Given the description of an element on the screen output the (x, y) to click on. 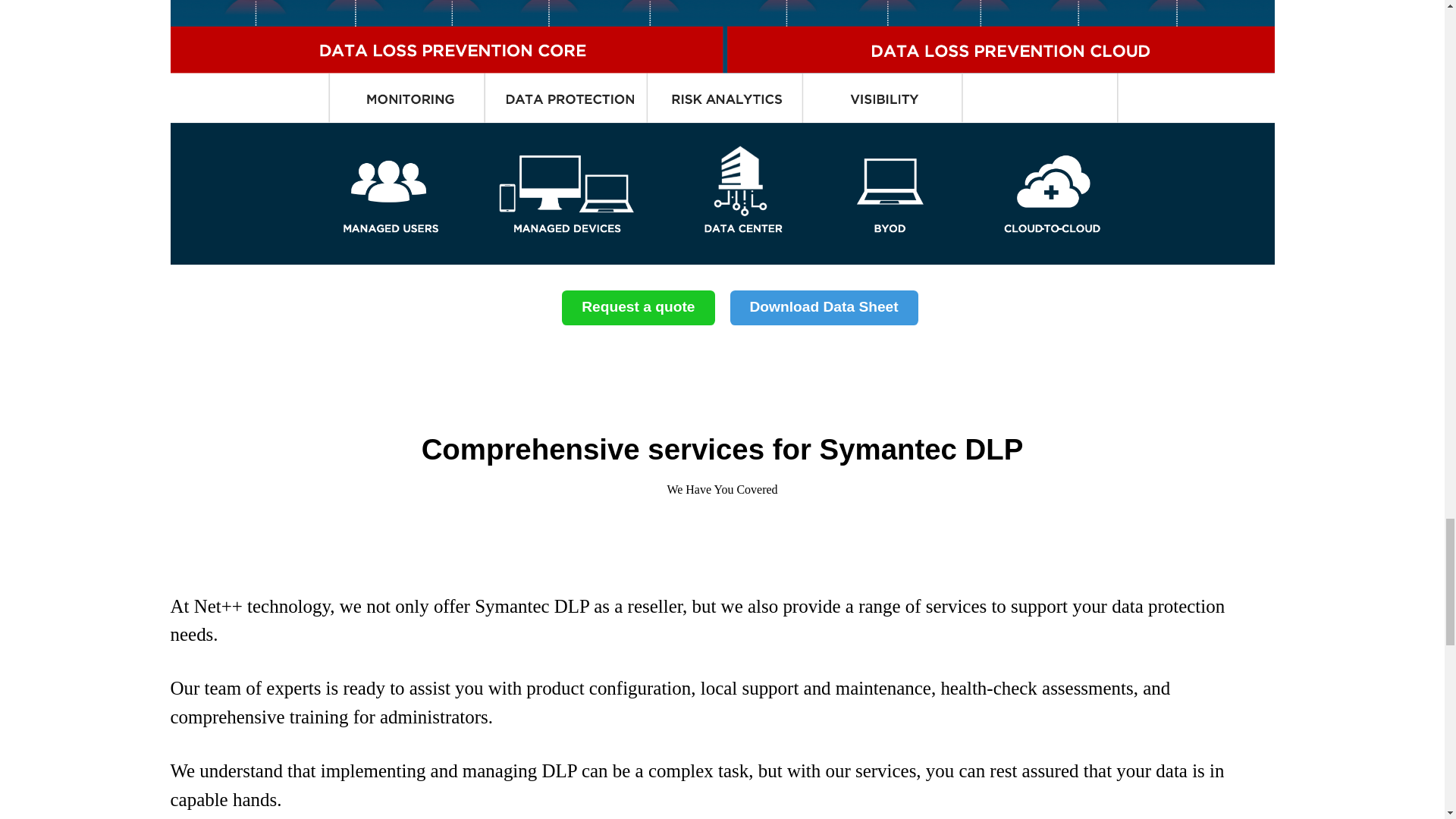
Request a quote (638, 307)
Download Data Sheet (823, 307)
Download Data Sheet (823, 307)
Request a quote (638, 307)
